Given the description of an element on the screen output the (x, y) to click on. 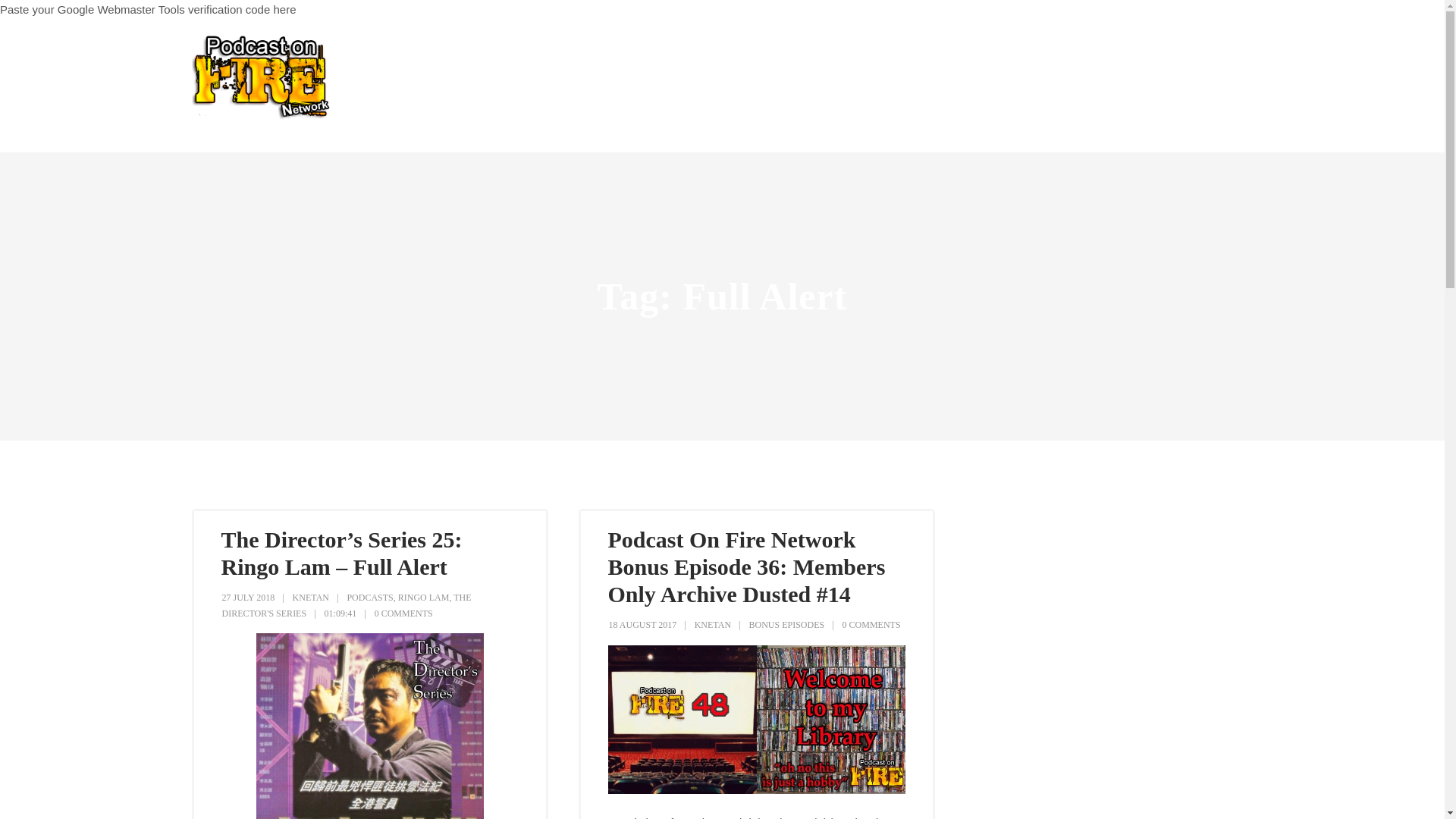
18 AUGUST 2017 (642, 624)
THE DIRECTOR'S SERIES (345, 605)
27 JULY 2018 (248, 597)
BONUS EPISODES (786, 624)
RINGO LAM (423, 597)
0 COMMENTS (872, 624)
KNETAN (712, 624)
PODCASTS (369, 597)
KNETAN (310, 597)
0 COMMENTS (403, 613)
